Given the description of an element on the screen output the (x, y) to click on. 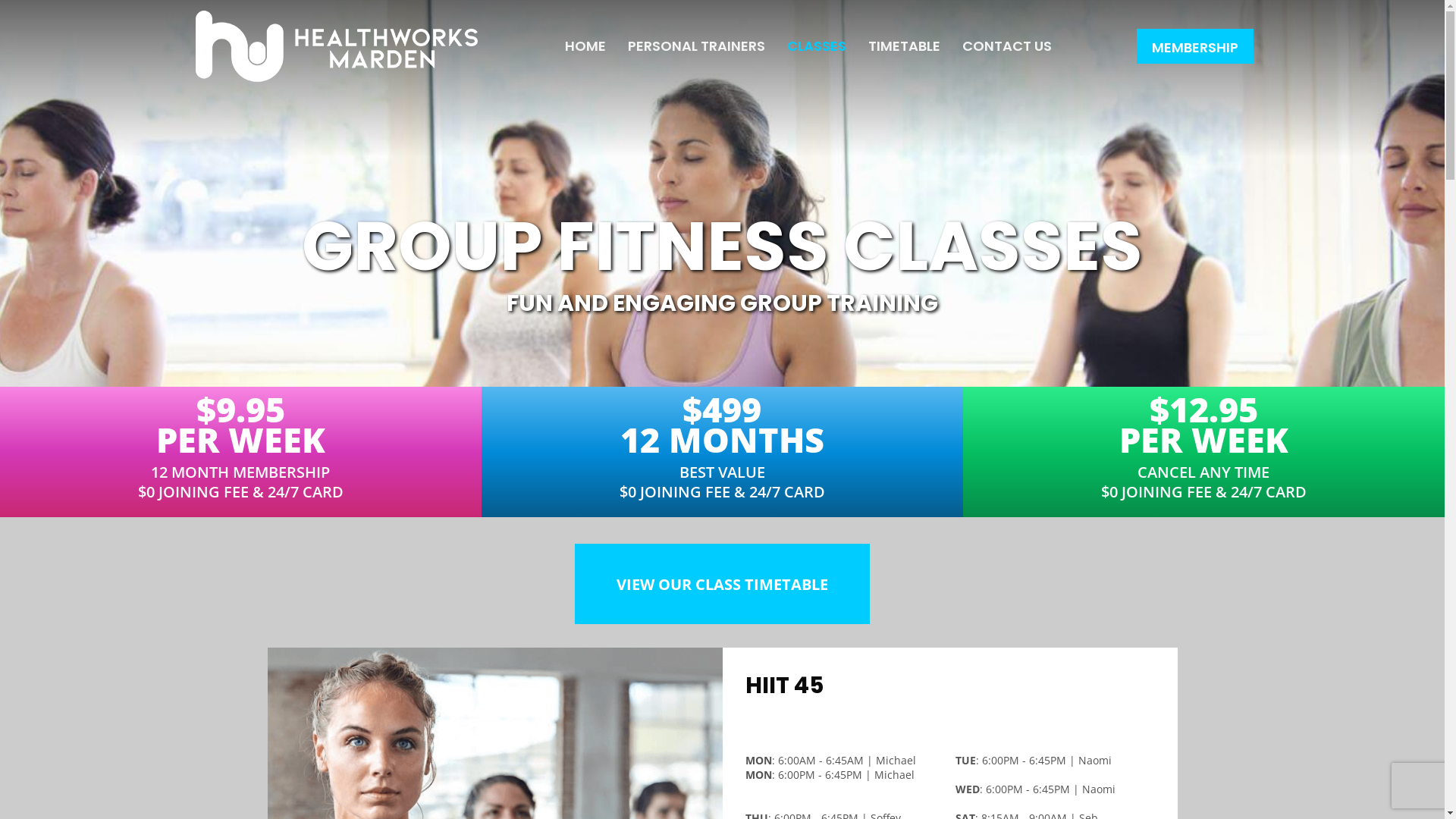
12 MONTH MEMBERSHIP
$0 JOINING FEE & 24/7 CARD Element type: text (240, 482)
$9.95
PER WEEK Element type: text (240, 424)
MEMBERSHIP Element type: text (1193, 45)
CANCEL ANY TIME
$0 JOINING FEE & 24/7 CARD Element type: text (1203, 482)
$12.95
PER WEEK Element type: text (1203, 424)
PERSONAL TRAINERS Element type: text (696, 45)
CLASSES Element type: text (816, 45)
TIMETABLE Element type: text (903, 45)
HOME Element type: text (584, 45)
VIEW OUR CLASS TIMETABLE Element type: text (722, 583)
CONTACT US Element type: text (1006, 45)
$499
12 MONTHS Element type: text (722, 424)
BEST VALUE
$0 JOINING FEE & 24/7 CARD Element type: text (722, 482)
